Given the description of an element on the screen output the (x, y) to click on. 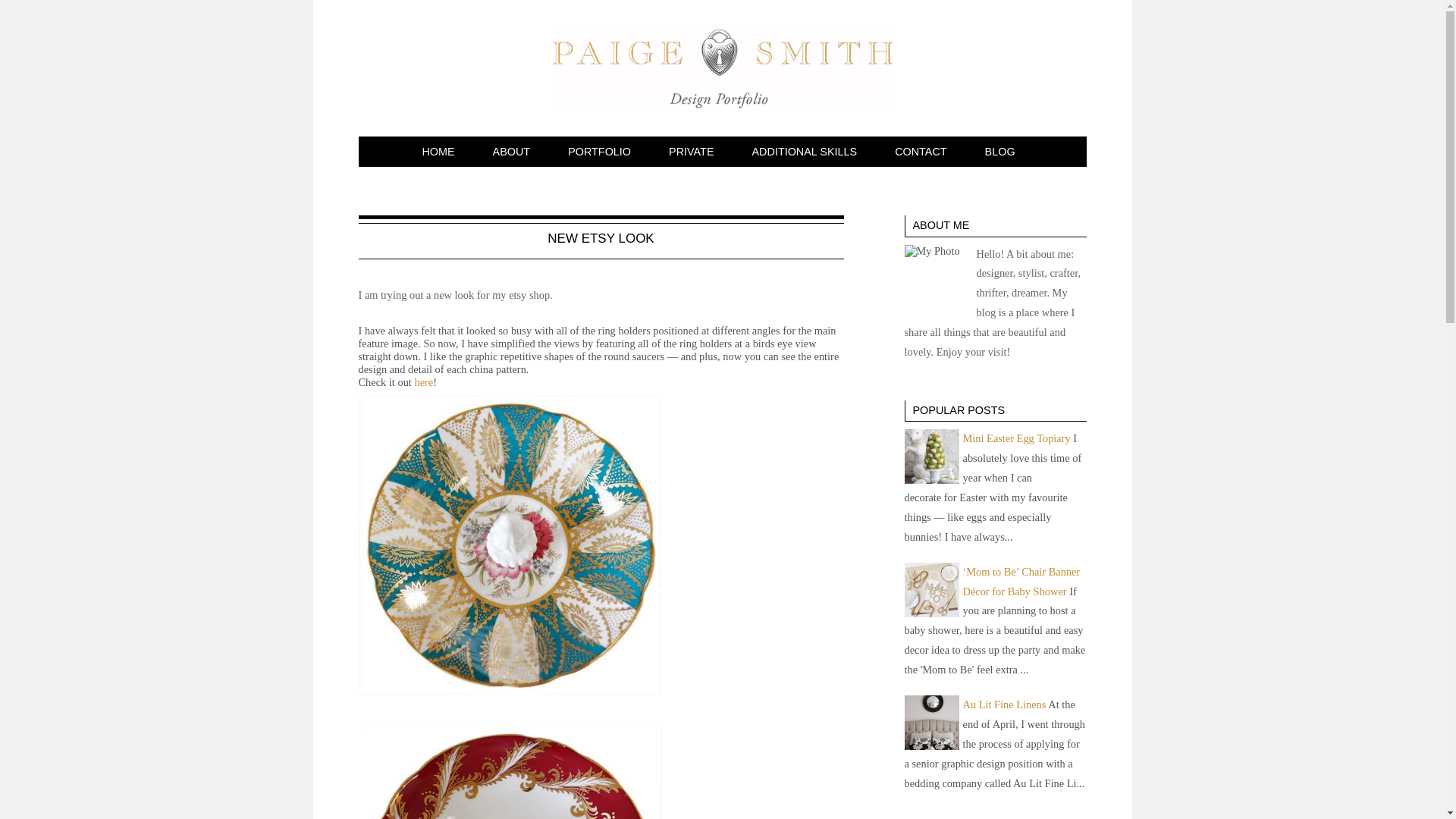
New Etsy Look (600, 237)
Au Lit Fine Linens (1004, 704)
PRIVATE (694, 151)
Mini Easter Egg Topiary (1016, 438)
ABOUT (515, 151)
CONTACT (924, 151)
ADDITIONAL SKILLS (808, 151)
NEW ETSY LOOK (600, 237)
HOME (441, 151)
here (422, 381)
Paige Smith (721, 68)
BLOG (1003, 151)
PORTFOLIO (603, 151)
Mini Easter Egg Topiary (1016, 438)
Au Lit Fine Linens (931, 722)
